Given the description of an element on the screen output the (x, y) to click on. 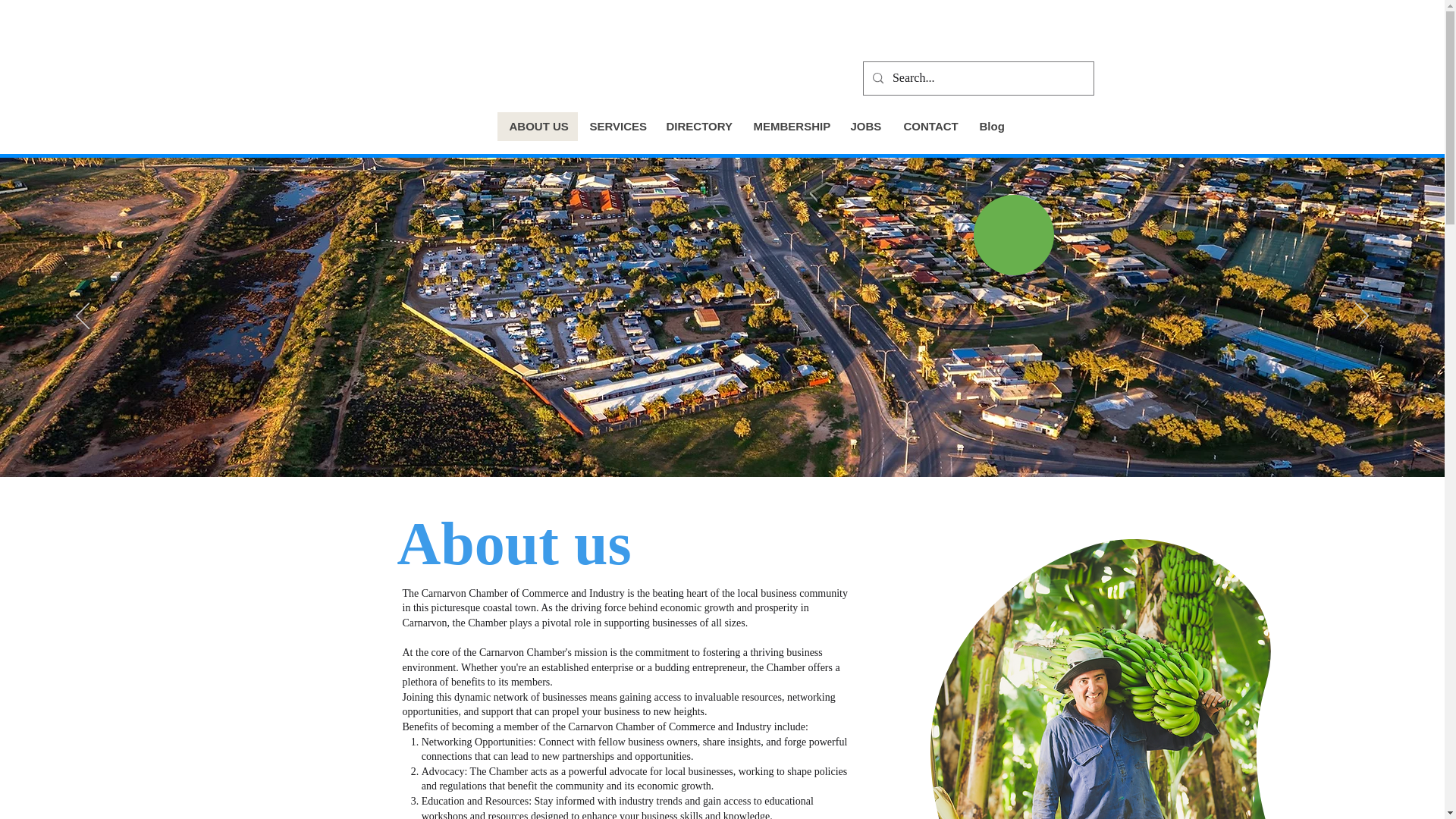
ABOUT US (537, 126)
Log In (1040, 31)
SERVICES (615, 126)
DIRECTORY (697, 126)
Blog (990, 126)
MEMBERSHIP (789, 126)
CONTACT (929, 126)
JOBS (864, 126)
